Given the description of an element on the screen output the (x, y) to click on. 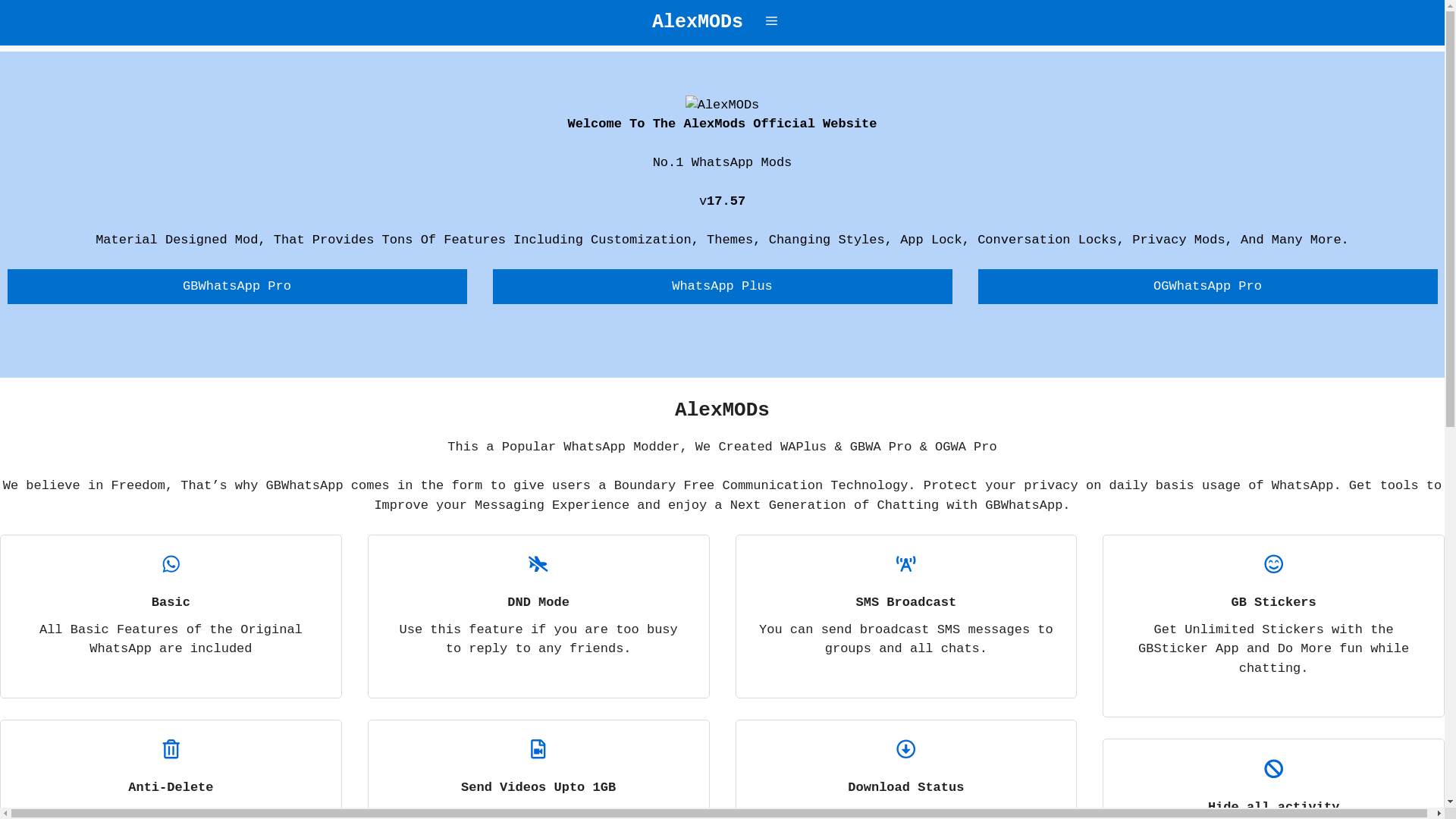
AlexMODs Element type: text (697, 22)
OGWhatsApp Pro Element type: text (1207, 286)
WhatsApp Plus Element type: text (722, 286)
GBWhatsApp Pro Element type: text (237, 286)
